Given the description of an element on the screen output the (x, y) to click on. 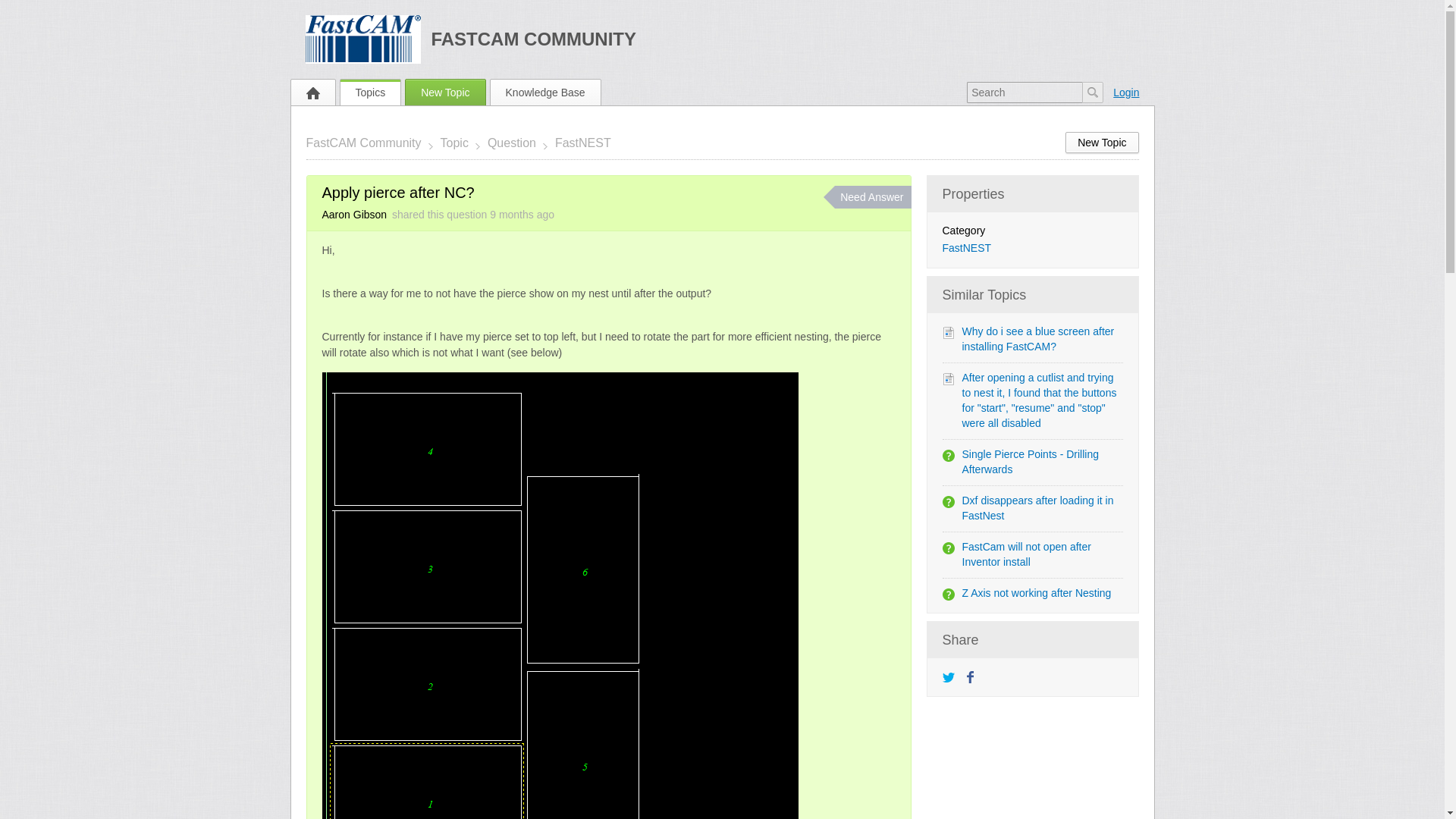
Knowledge Base (545, 92)
FASTCAM COMMUNITY (533, 38)
Why do i see a blue screen after installing FastCAM? (1036, 338)
FastNEST (966, 247)
New Topic (444, 92)
Dxf disappears after loading it in FastNest (1036, 507)
New Topic (1101, 142)
Question (513, 142)
FastCam will not open after Inventor install (1025, 554)
Aaron Gibson (355, 214)
Topic (456, 142)
Topics (370, 92)
Login (1122, 92)
FastCAM Community (368, 142)
